Given the description of an element on the screen output the (x, y) to click on. 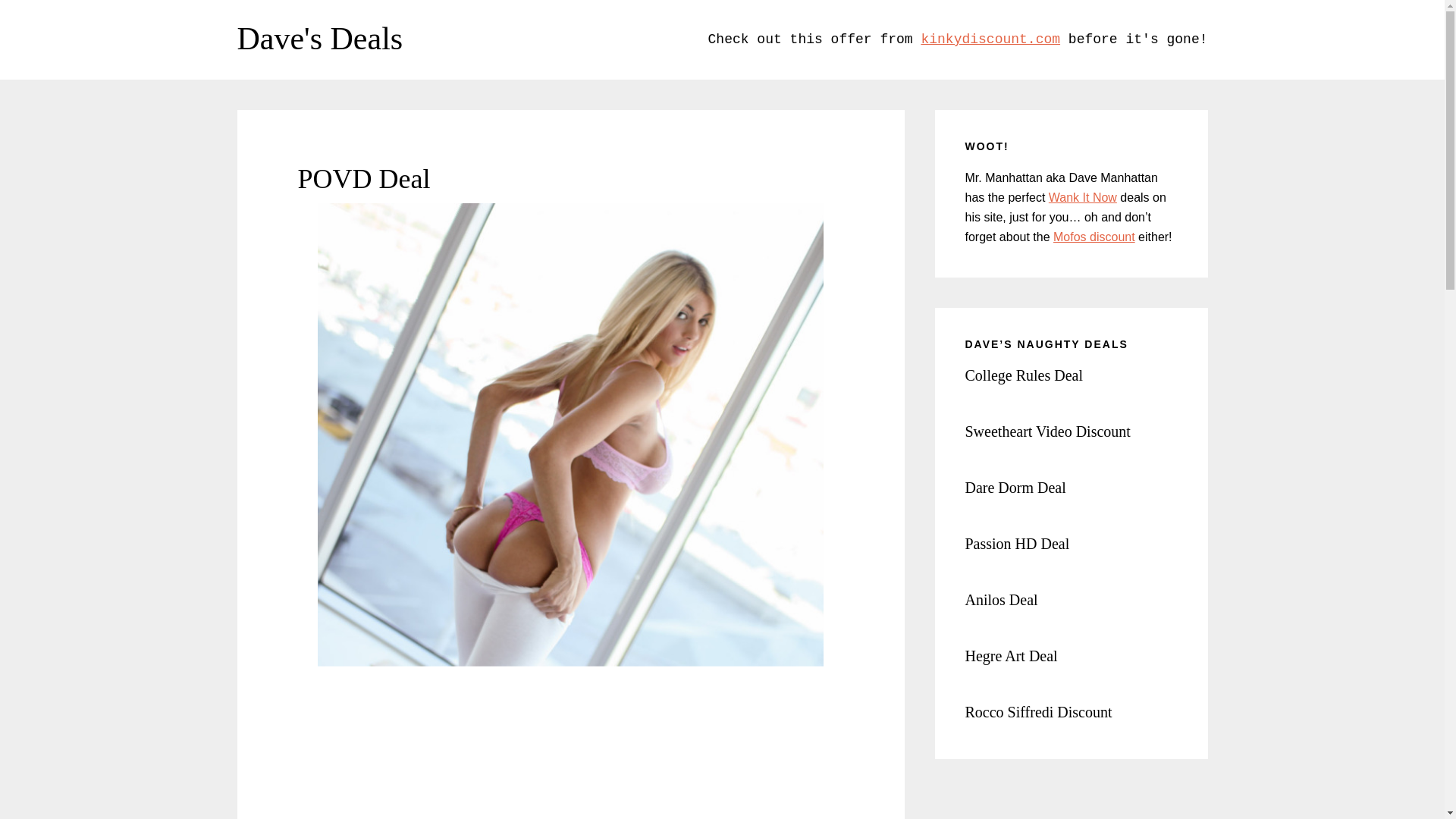
Anilos Deal (999, 599)
kinkydiscount.com (989, 38)
Dare Dorm Deal (1014, 487)
Sweetheart Video Discount (1046, 431)
Mofos discount (1093, 236)
Dave's Deals (319, 38)
Passion HD Deal (1015, 543)
Rocco Siffredi Discount (1037, 711)
College Rules Deal (1023, 375)
Wank It Now (1082, 196)
Hegre Art Deal (1010, 655)
